Given the description of an element on the screen output the (x, y) to click on. 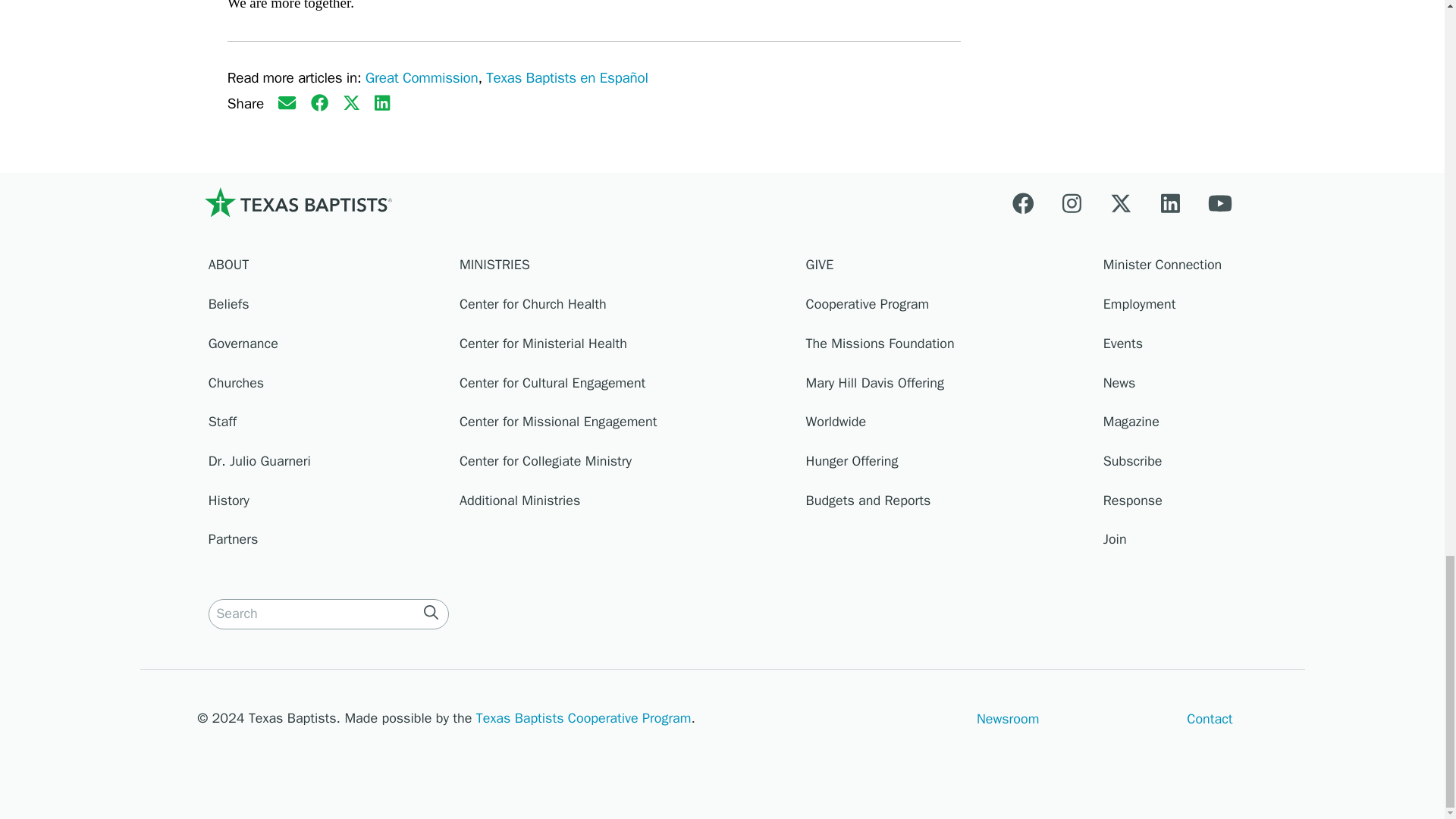
Great Commission (422, 77)
Home (297, 201)
